Given the description of an element on the screen output the (x, y) to click on. 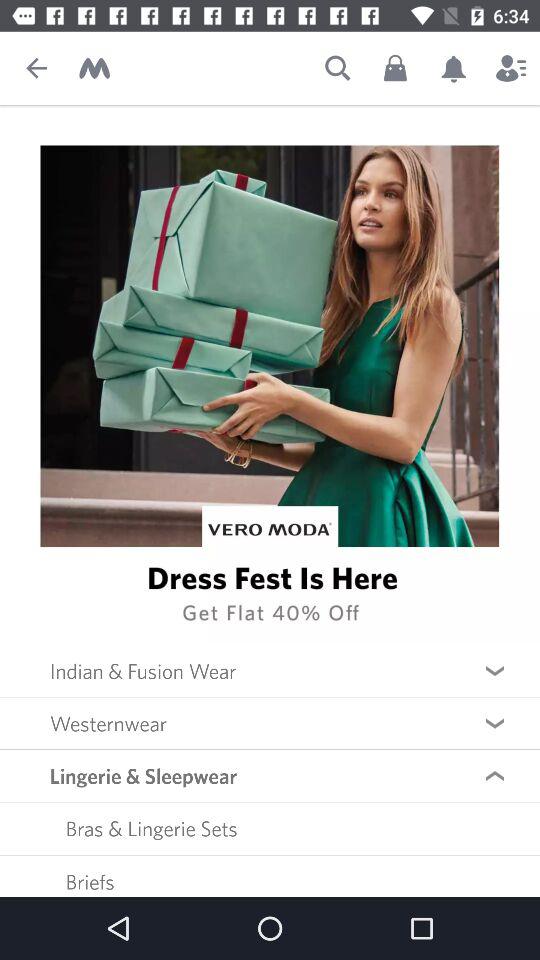
myntra 's home page (94, 68)
